Given the description of an element on the screen output the (x, y) to click on. 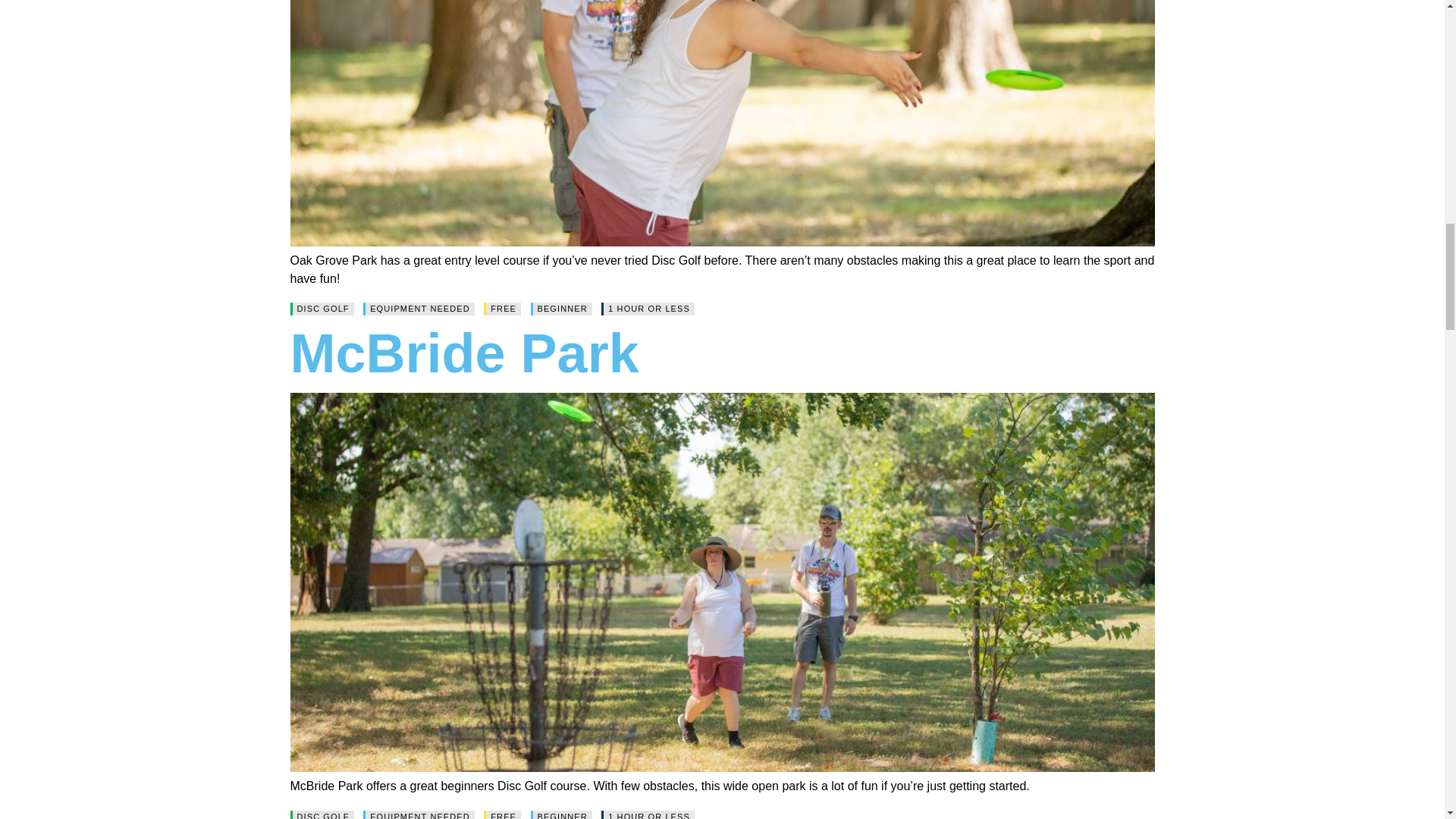
McBride Park (464, 353)
